Given the description of an element on the screen output the (x, y) to click on. 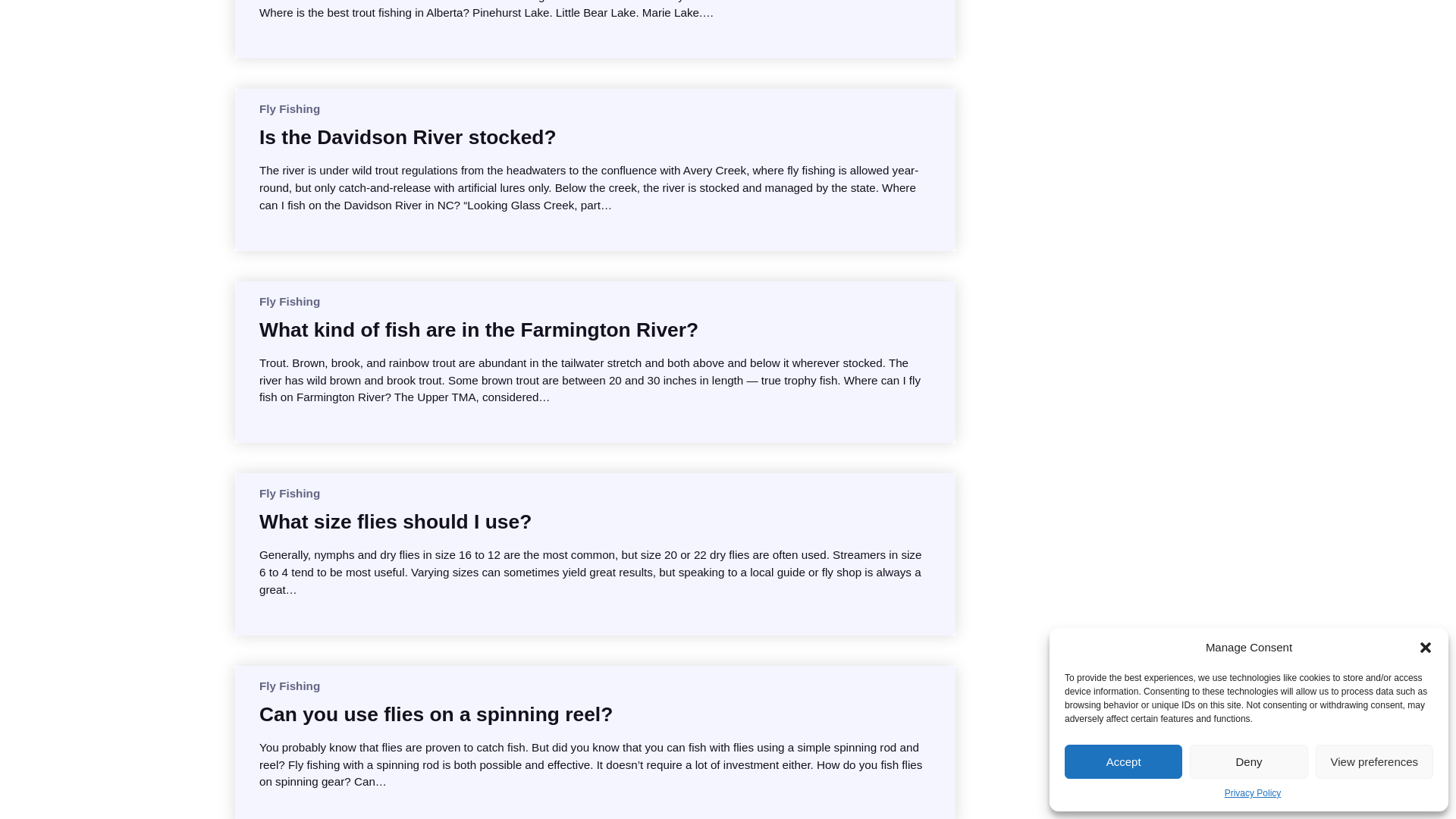
Can you use flies on a spinning reel? (435, 714)
Fly Fishing (289, 108)
Fly Fishing (289, 492)
What size flies should I use? (395, 521)
What kind of fish are in the Farmington River? (478, 329)
Fly Fishing (289, 685)
Is the Davidson River stocked? (407, 136)
Fly Fishing (289, 300)
